Given the description of an element on the screen output the (x, y) to click on. 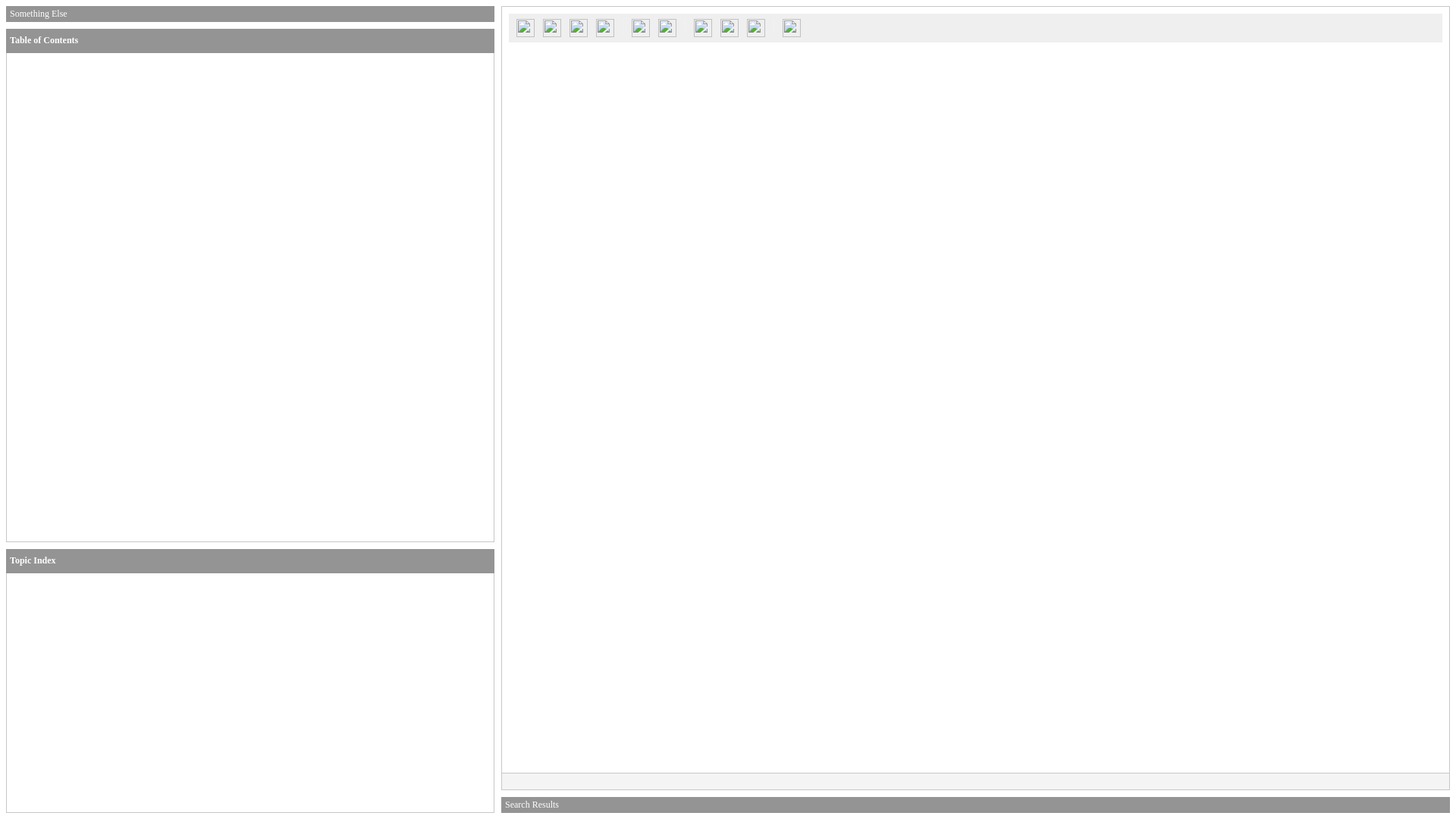
Next Search Hit (666, 27)
Search (525, 27)
Previous Document (578, 27)
Highlight Text (703, 27)
Settings (755, 27)
Login (551, 27)
Next Document (604, 27)
Help (791, 27)
Bookmark (729, 27)
Previous Search Hit (640, 27)
